Given the description of an element on the screen output the (x, y) to click on. 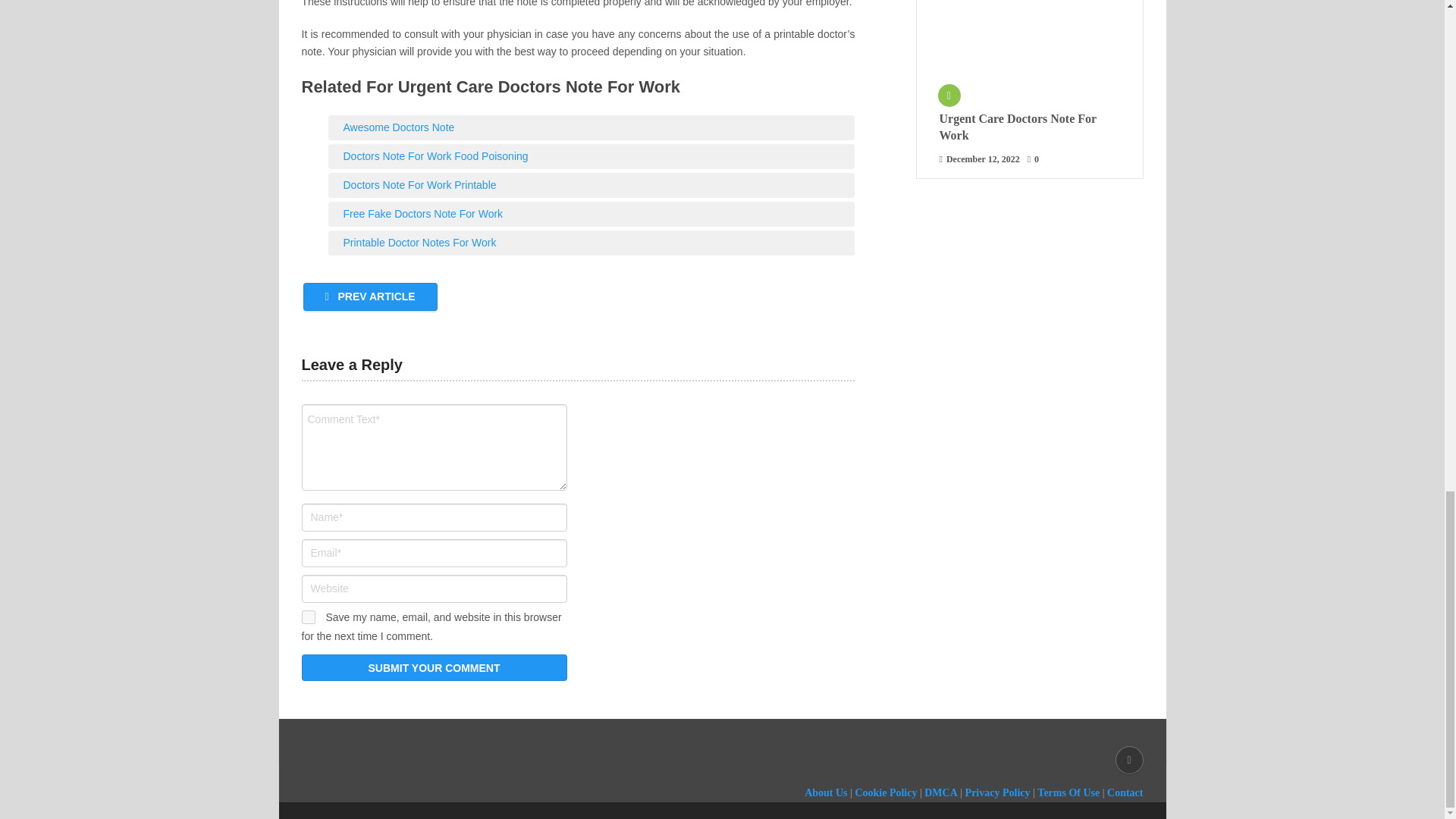
Terms Of Use (1067, 792)
PREV ARTICLE (370, 296)
Printable Doctor Notes For Work (590, 242)
DMCA (941, 792)
Urgent Care Doctors Note For Work (1029, 127)
Doctors Note For Work Printable (590, 185)
Cookie Policy (885, 792)
Doctors Note For Work Food Poisoning (590, 156)
Contact (1124, 792)
yes (308, 617)
